Given the description of an element on the screen output the (x, y) to click on. 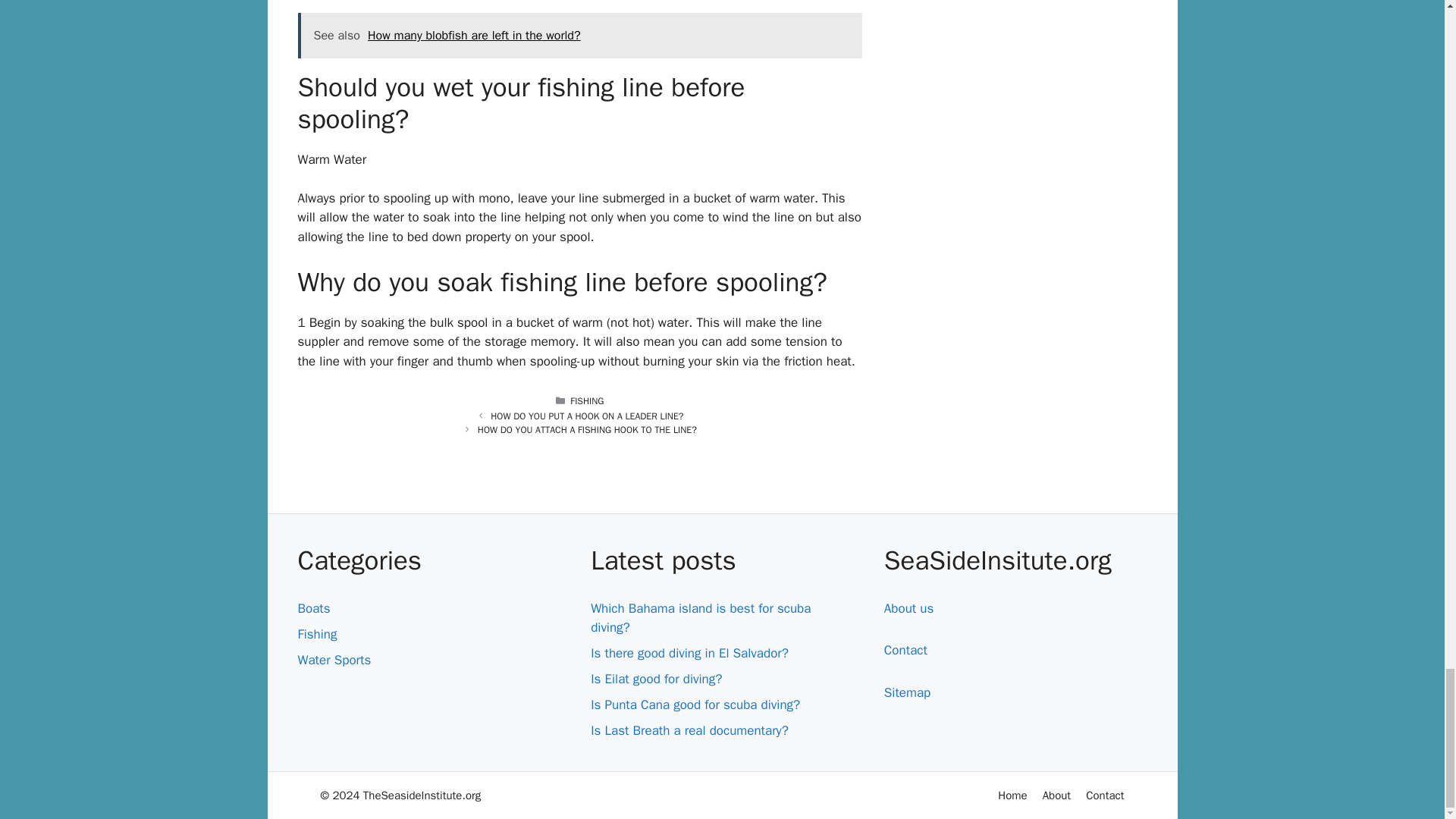
Boats (313, 608)
Which Bahama island is best for scuba diving? (700, 618)
Fishing (316, 634)
See also  How many blobfish are left in the world? (579, 35)
HOW DO YOU ATTACH A FISHING HOOK TO THE LINE? (587, 429)
Is there good diving in El Salvador? (690, 652)
FISHING (587, 400)
Water Sports (334, 659)
HOW DO YOU PUT A HOOK ON A LEADER LINE? (586, 416)
